Given the description of an element on the screen output the (x, y) to click on. 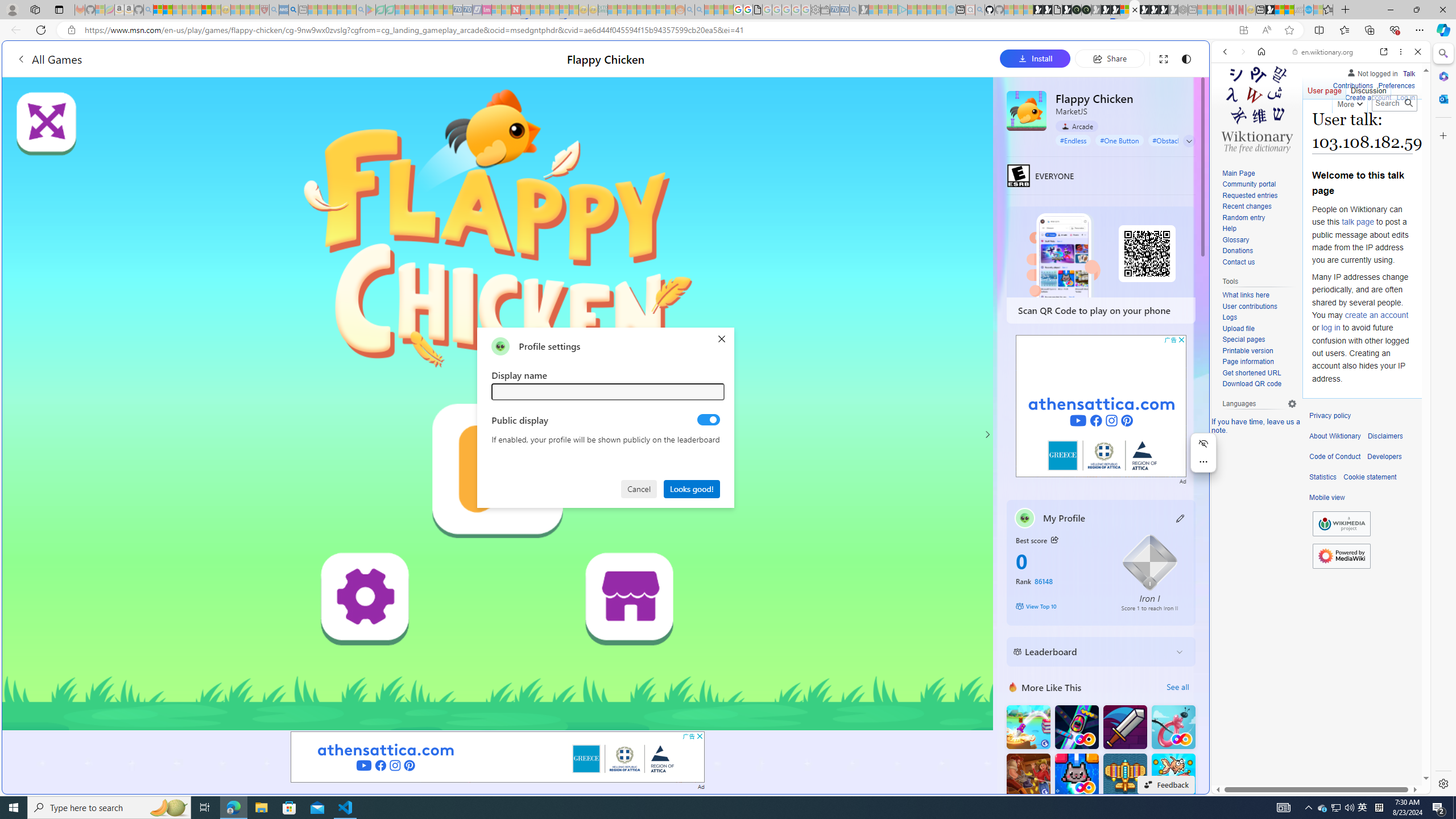
What links here (1259, 295)
Web scope (1230, 102)
User page (1324, 87)
Printable version (1247, 350)
More actions (1203, 461)
Flappy Chicken (1026, 110)
Contact us (1259, 262)
Cookie statement (1369, 477)
User page (1324, 87)
Terms of Use Agreement - Sleeping (380, 9)
